Given the description of an element on the screen output the (x, y) to click on. 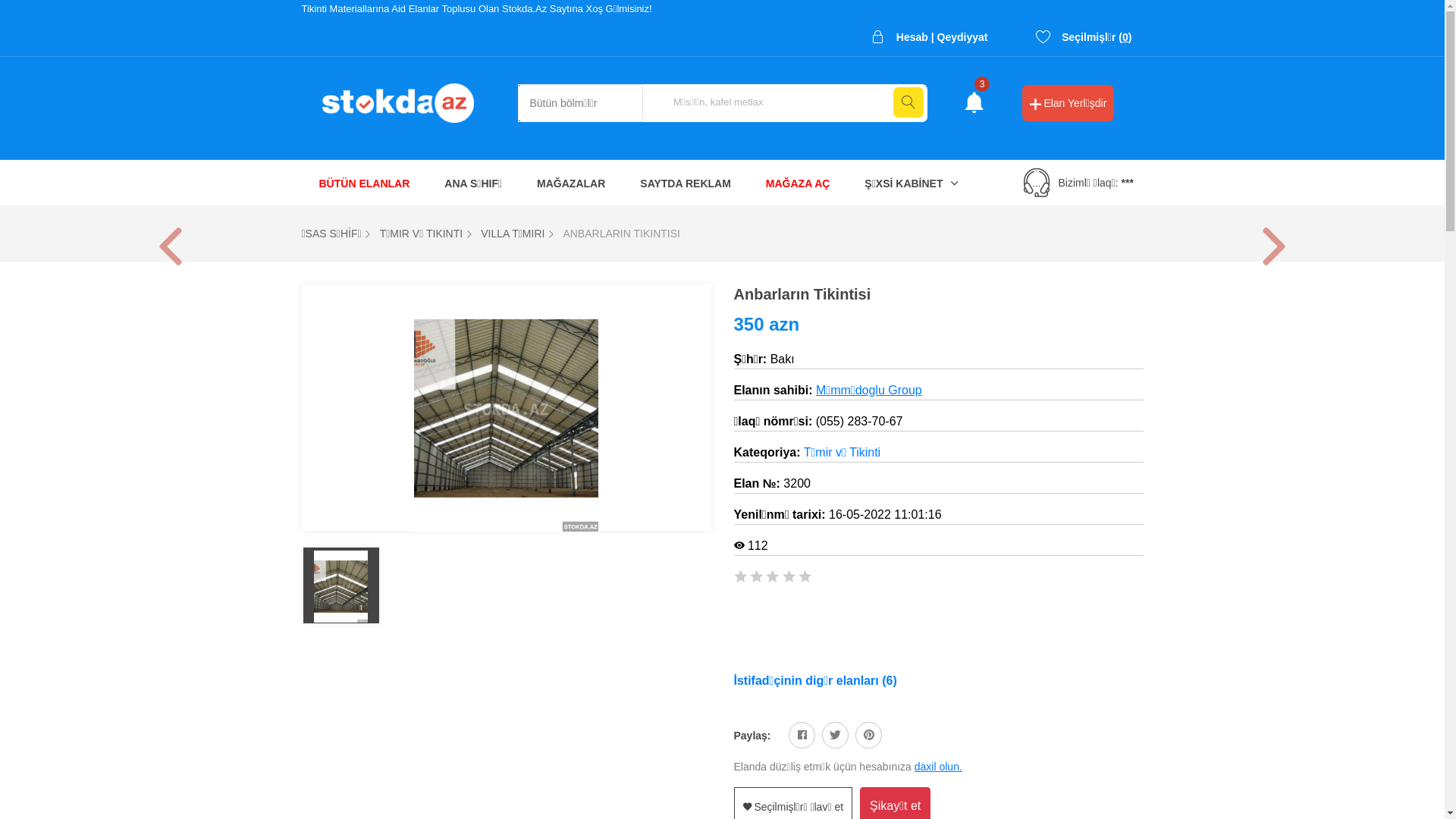
Hesab | Qeydiyyat Element type: text (929, 37)
Hesab Element type: text (912, 37)
SAYTDA REKLAM Element type: text (685, 182)
Super! Element type: hover (804, 577)
Qeydiyyat Element type: text (962, 37)
Normal Element type: hover (755, 577)
daxil olun. Element type: text (938, 766)
